Given the description of an element on the screen output the (x, y) to click on. 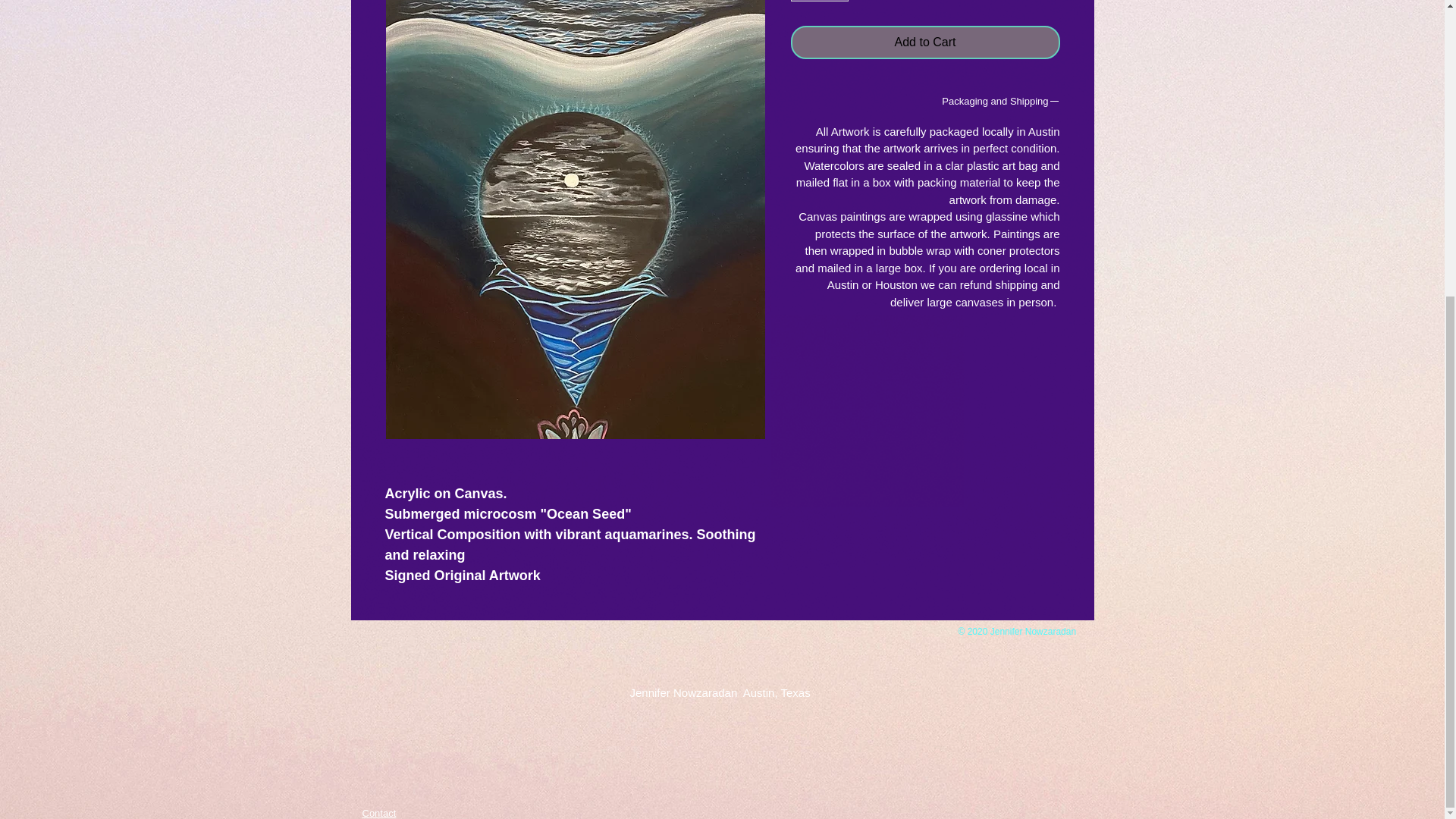
Packaging and Shipping (924, 102)
1 (818, 1)
Add to Cart (924, 41)
